Given the description of an element on the screen output the (x, y) to click on. 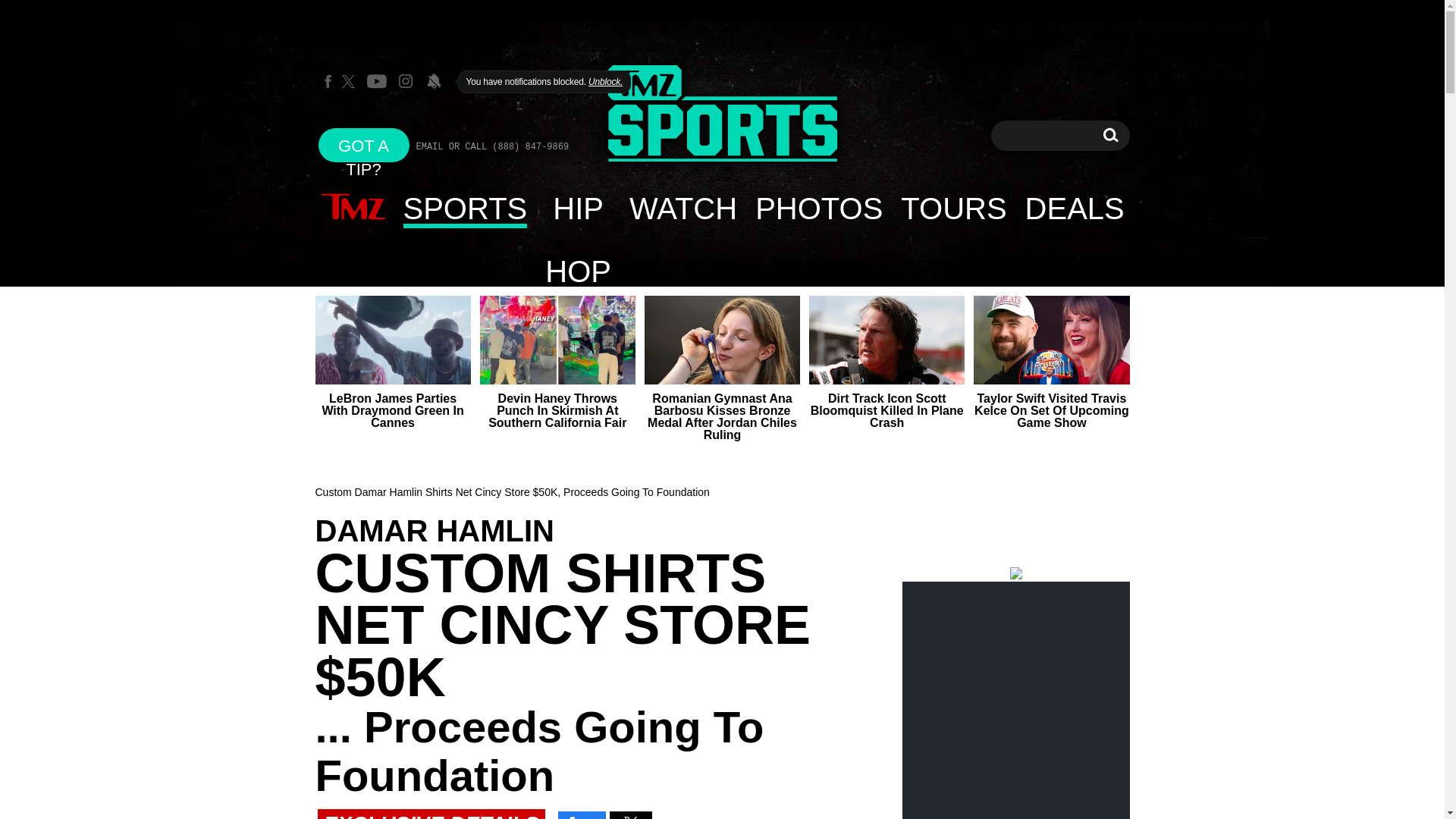
SPORTS (465, 207)
GOT A TIP? (1110, 135)
DEALS (363, 144)
HIP HOP (1075, 207)
TMZ Sports (577, 207)
TOURS (722, 113)
TMZ Sports (952, 207)
PHOTOS (722, 115)
Search (818, 207)
